Given the description of an element on the screen output the (x, y) to click on. 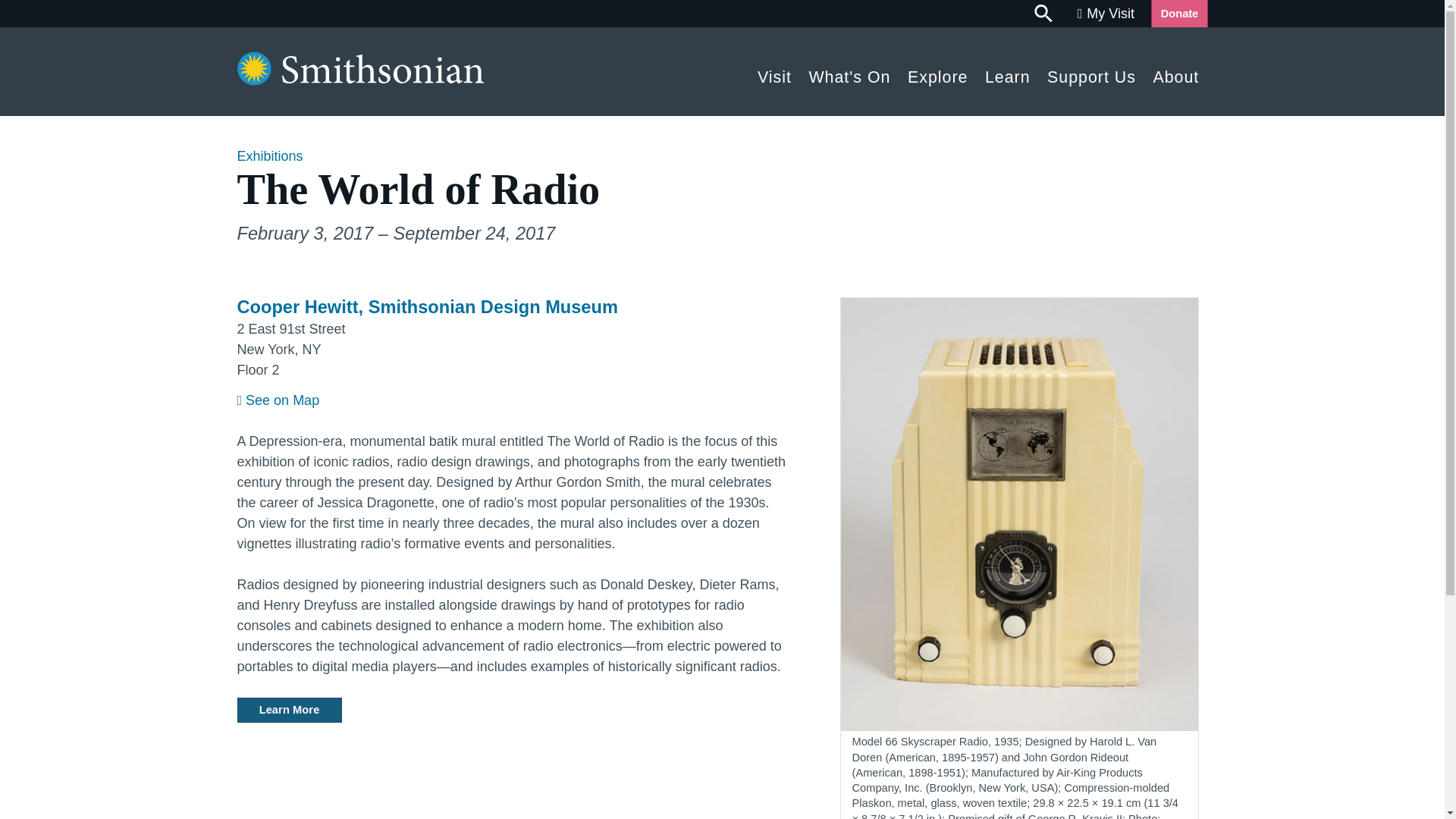
My Visit (1105, 13)
Donate (1179, 13)
Visit (774, 72)
What's On (849, 72)
Search (1044, 13)
Home (359, 80)
Explore (937, 72)
